Given the description of an element on the screen output the (x, y) to click on. 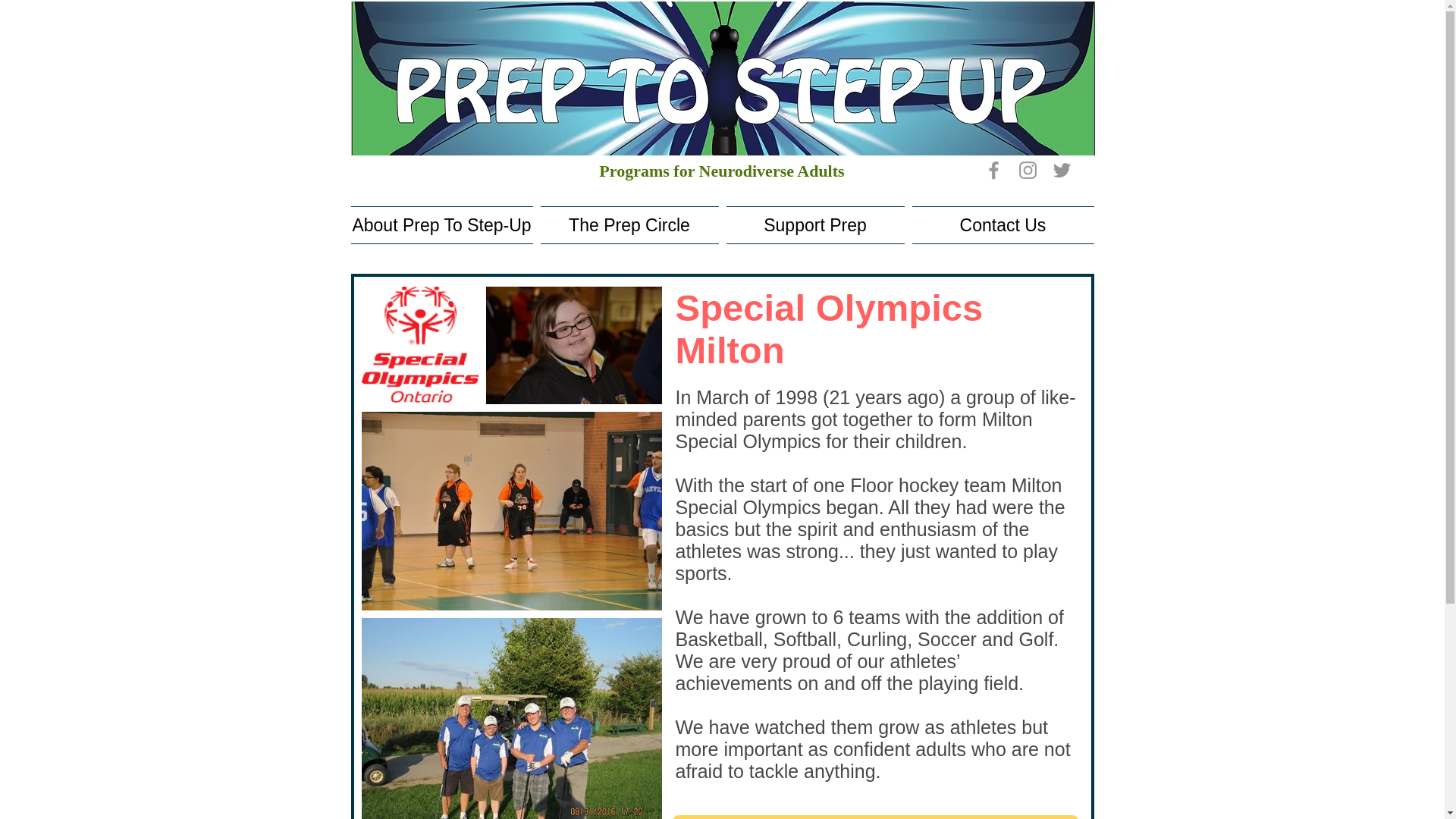
Programs for Neurodiverse Adults (721, 170)
About Prep To Step-Up (442, 225)
Contact Us (1001, 225)
Support Prep (814, 225)
The Prep Circle (629, 225)
